Given the description of an element on the screen output the (x, y) to click on. 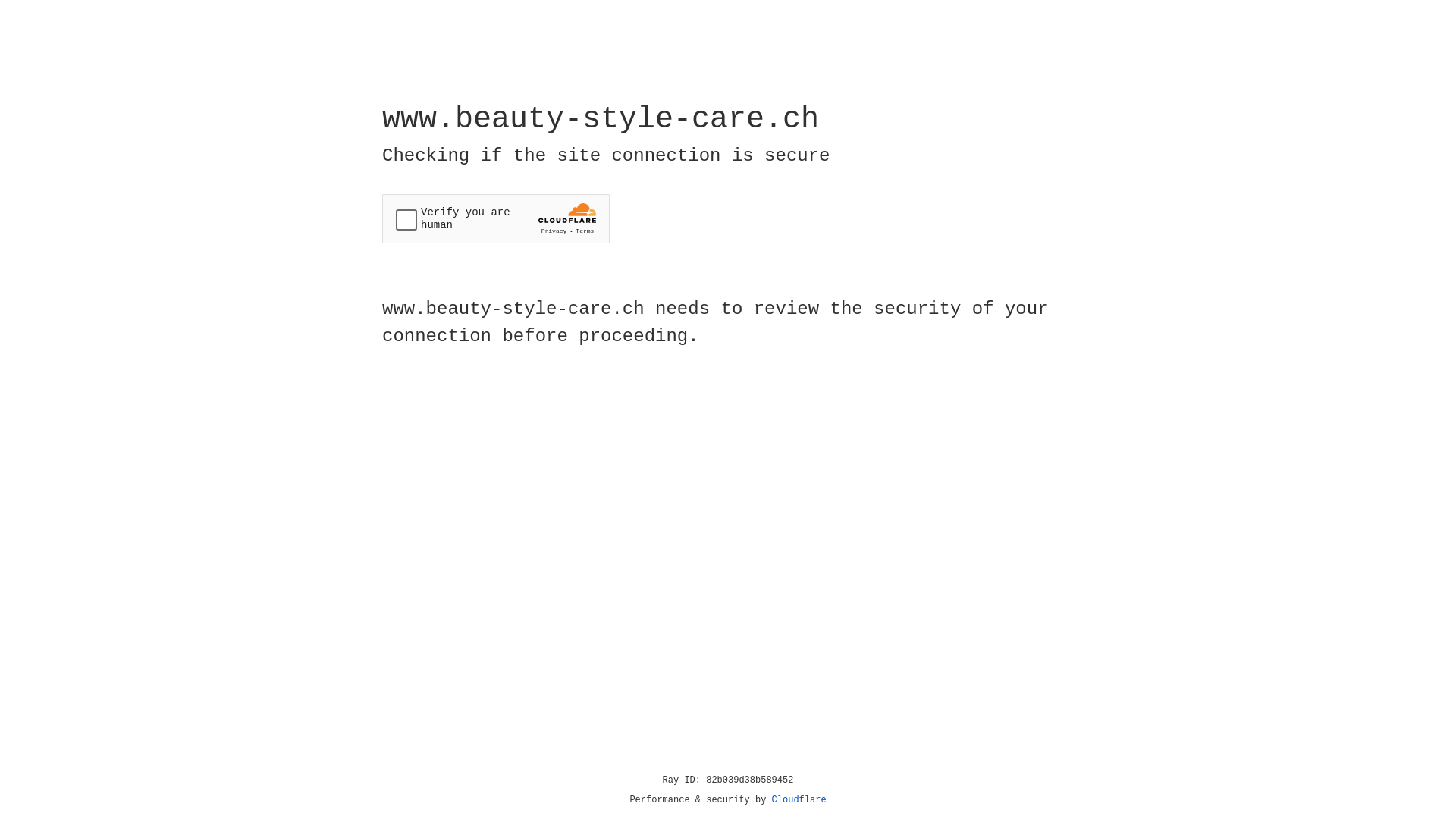
Widget containing a Cloudflare security challenge Element type: hover (495, 218)
Cloudflare Element type: text (798, 799)
